Given the description of an element on the screen output the (x, y) to click on. 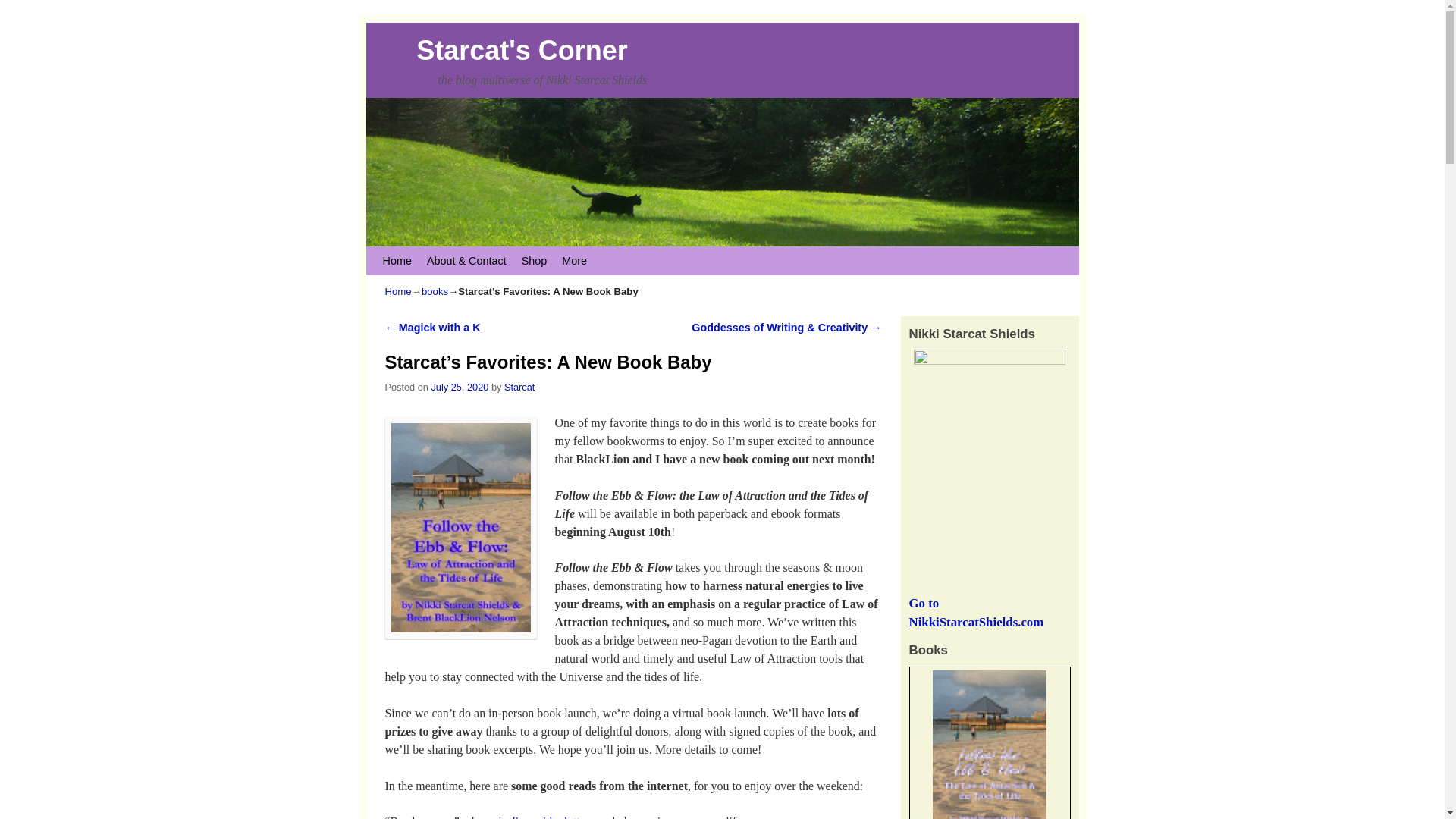
July 25, 2020 (458, 387)
books (435, 291)
Starcat's Corner (521, 50)
Home (396, 260)
dealing with clutter (542, 816)
Starcat (518, 387)
View all posts by Starcat (518, 387)
Skip to primary content (408, 253)
9:00 am (458, 387)
More (574, 260)
